Given the description of an element on the screen output the (x, y) to click on. 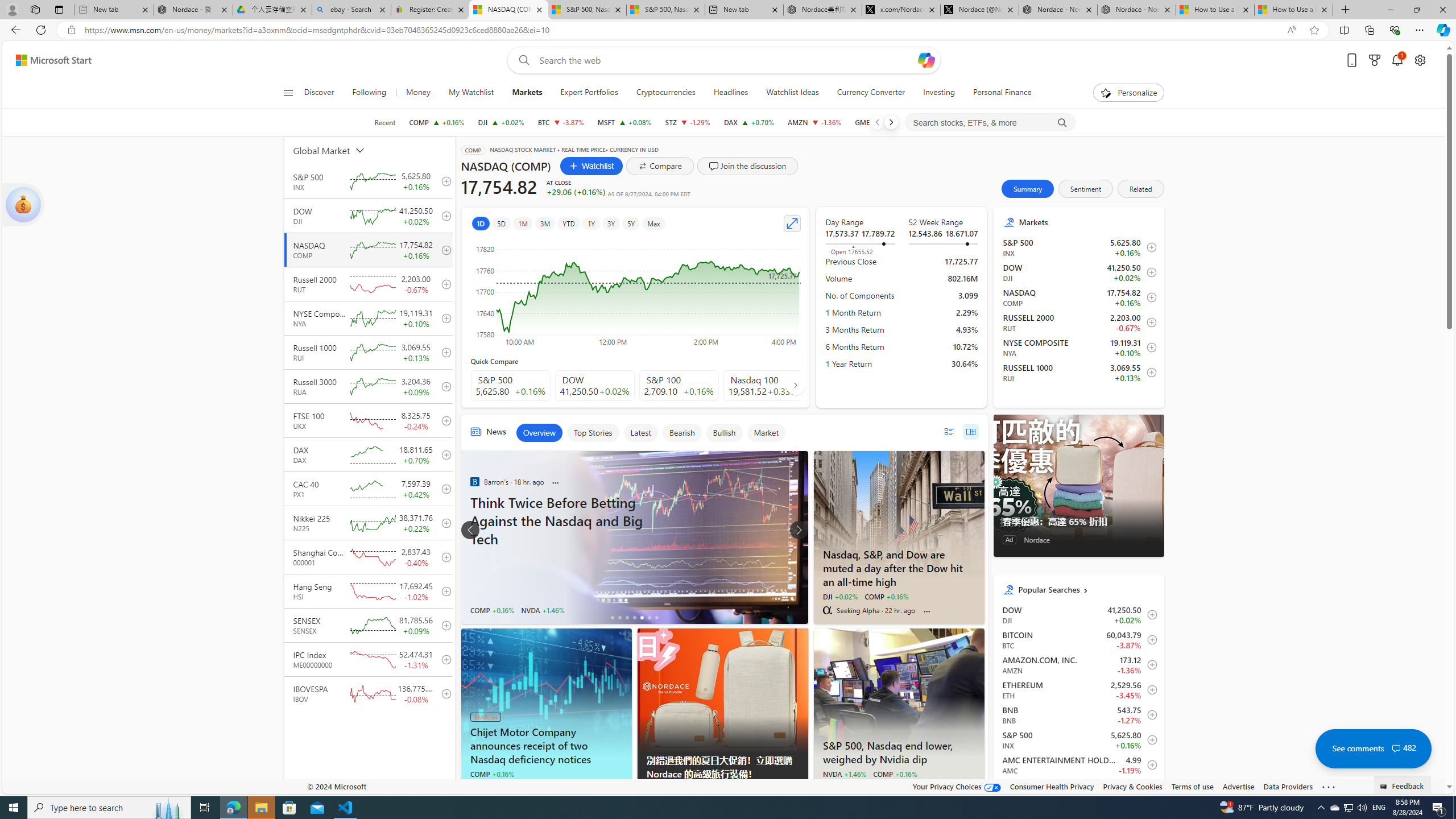
BNB BNB decrease 543.75 -6.88 -1.27% itemundefined (1078, 714)
AdChoices (798, 789)
5D (501, 223)
Data Providers (1288, 785)
Cryptocurrencies (665, 92)
show card (22, 204)
Notifications (1397, 60)
Privacy & Cookies (1131, 785)
MSFT MICROSOFT CORPORATION increase 413.84 +0.35 +0.08% (623, 122)
Personal Finance (1002, 92)
Expert Portfolios (589, 92)
Search stocks, ETFs, & more (989, 122)
AdChoices (798, 789)
